Given the description of an element on the screen output the (x, y) to click on. 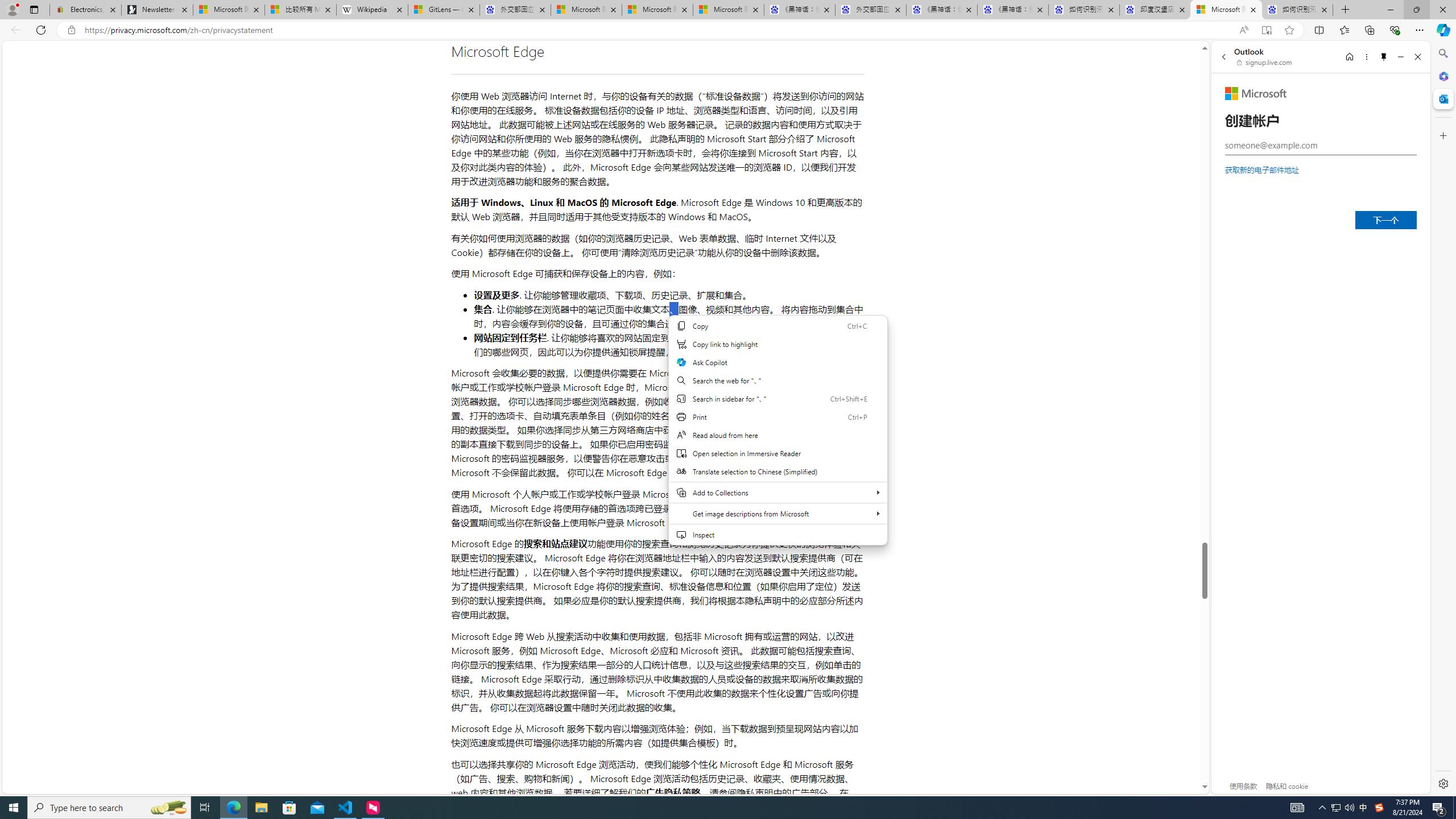
signup.live.com (1264, 61)
Web context (777, 429)
Open selection in Immersive Reader (777, 452)
Print (777, 416)
Copy link to highlight (777, 343)
